Given the description of an element on the screen output the (x, y) to click on. 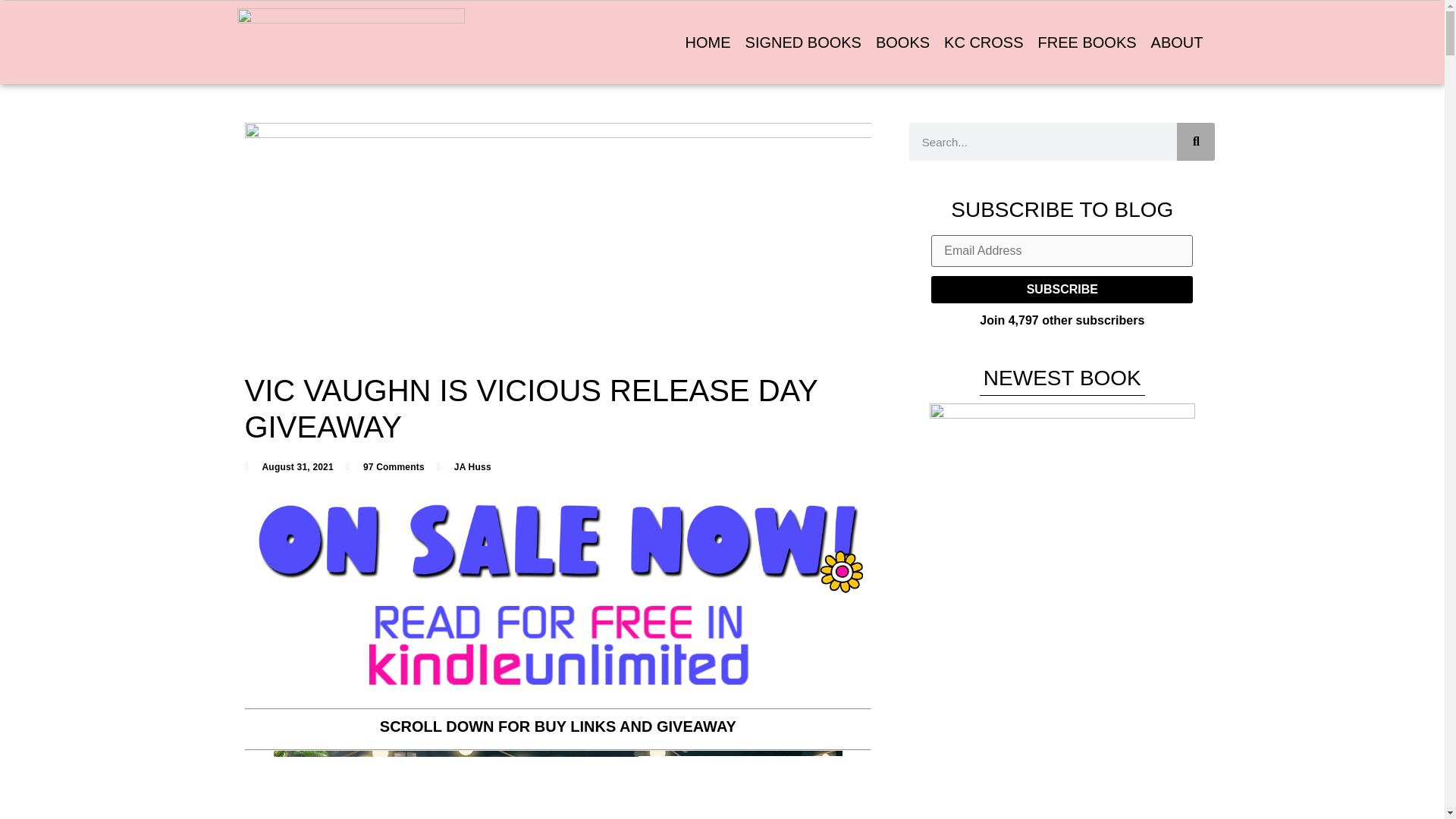
SIGNED BOOKS (803, 42)
FREE BOOKS (1087, 42)
BOOKS (902, 42)
HOME (708, 42)
ABOUT (1177, 42)
KC CROSS (983, 42)
